Given the description of an element on the screen output the (x, y) to click on. 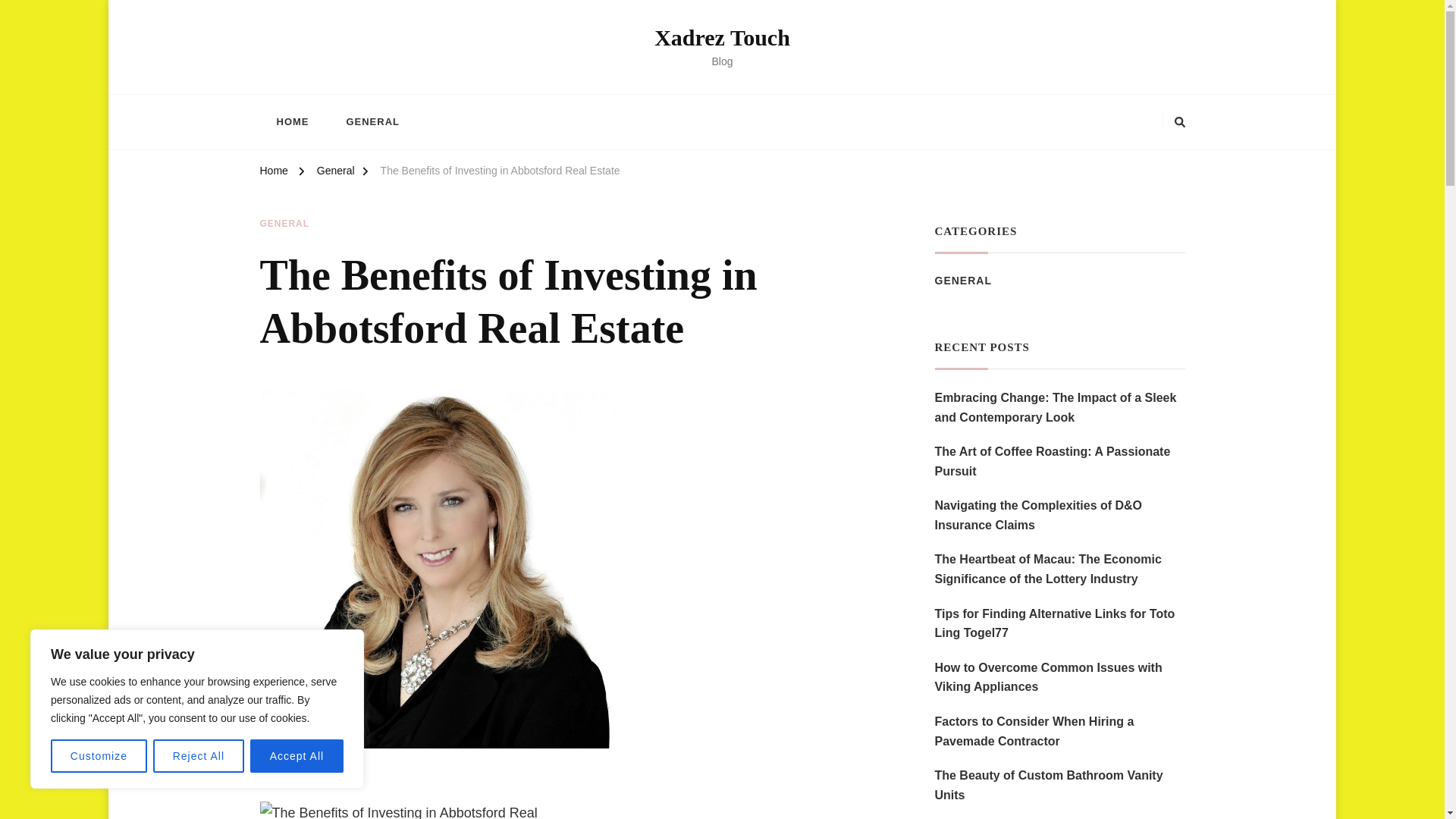
Customize (98, 756)
General (336, 172)
Reject All (198, 756)
The Benefits of Investing in Abbotsford Real Estate (500, 172)
GENERAL (283, 223)
Accept All (296, 756)
GENERAL (371, 121)
HOME (291, 121)
Xadrez Touch (721, 37)
Home (272, 172)
